Given the description of an element on the screen output the (x, y) to click on. 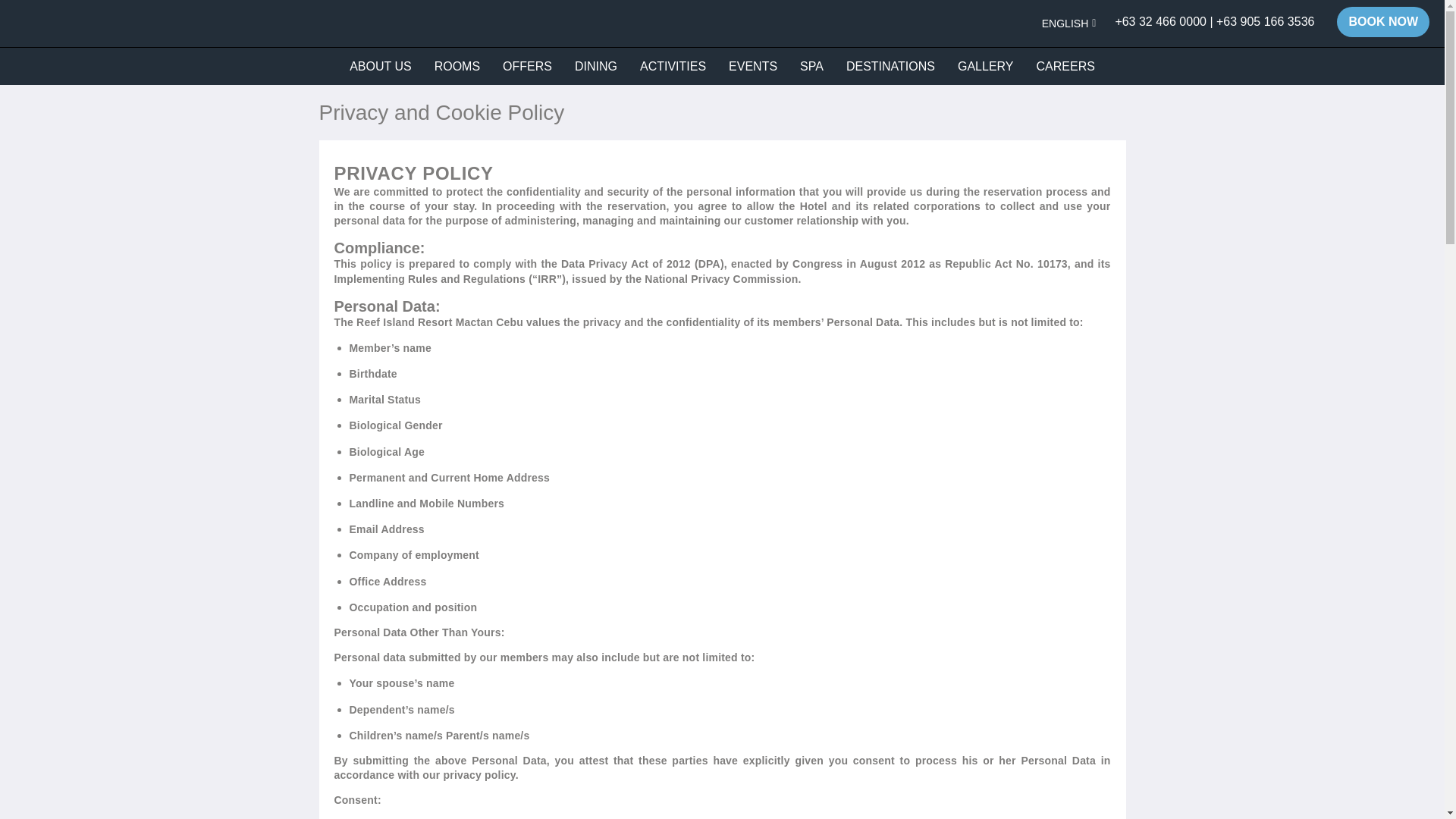
DINING (596, 66)
EVENTS (753, 66)
ROOMS (456, 66)
SPA (811, 66)
GALLERY (985, 66)
CAREERS (1065, 66)
ABOUT US (380, 66)
OFFERS (526, 66)
ENGLISH (1069, 23)
DESTINATIONS (889, 66)
ACTIVITIES (673, 66)
BOOK NOW (1382, 21)
